Given the description of an element on the screen output the (x, y) to click on. 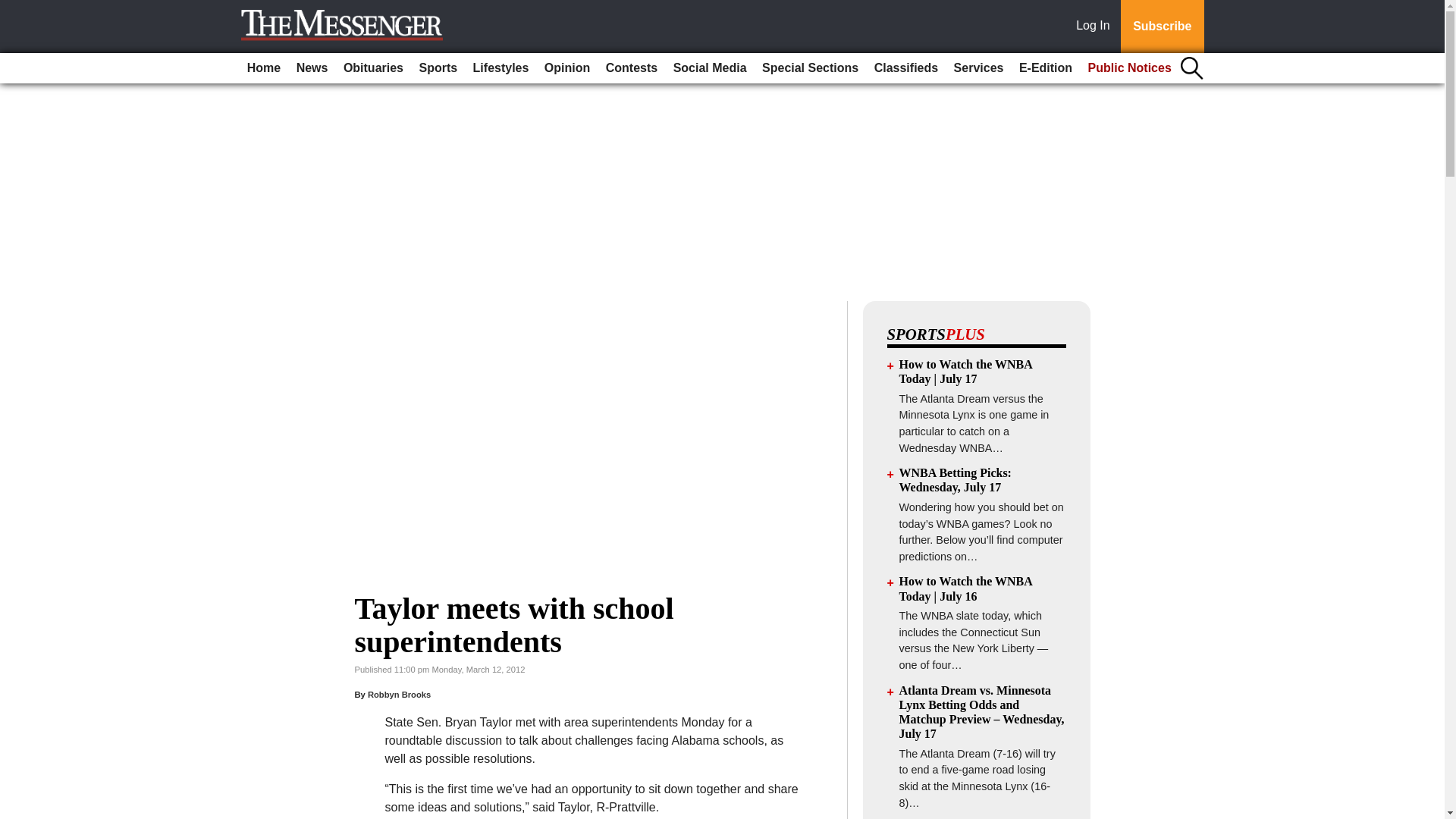
E-Edition (1045, 68)
Classifieds (905, 68)
Services (978, 68)
Subscribe (1162, 26)
Lifestyles (501, 68)
Home (263, 68)
Log In (1095, 26)
Opinion (566, 68)
Special Sections (809, 68)
Obituaries (373, 68)
Social Media (709, 68)
Contests (631, 68)
News (311, 68)
Sports (437, 68)
